Given the description of an element on the screen output the (x, y) to click on. 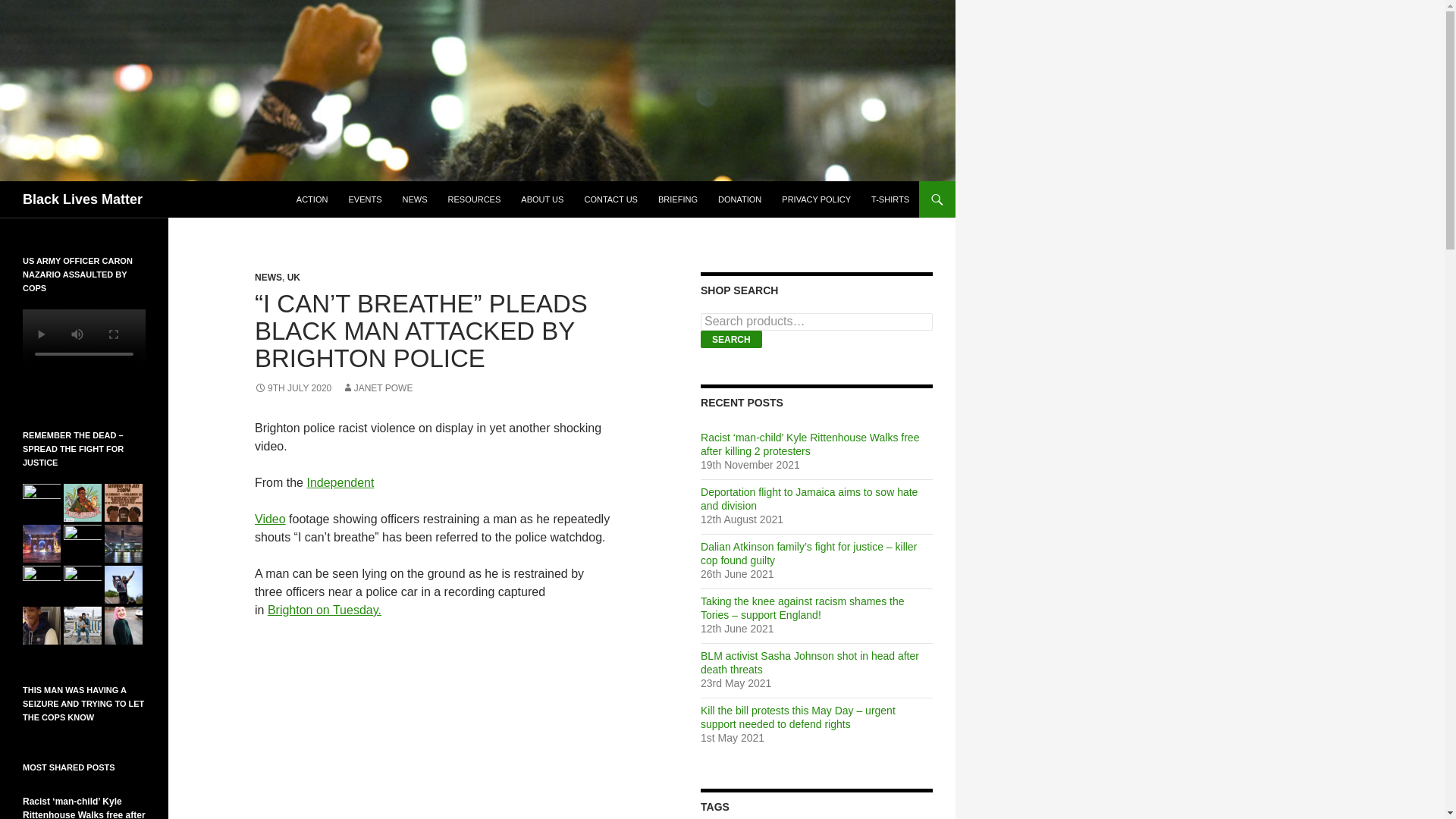
Brighton on Tuesday. (324, 609)
PRIVACY POLICY (816, 198)
CONTACT US (610, 198)
DONATION (739, 198)
SEARCH (730, 339)
RESOURCES (475, 198)
JANET POWE (377, 388)
ABOUT US (542, 198)
NEWS (268, 276)
ACTION (311, 198)
Deportation flight to Jamaica aims to sow hate and division (808, 498)
T-SHIRTS (889, 198)
9TH JULY 2020 (292, 388)
BRIEFING (677, 198)
UK (292, 276)
